Given the description of an element on the screen output the (x, y) to click on. 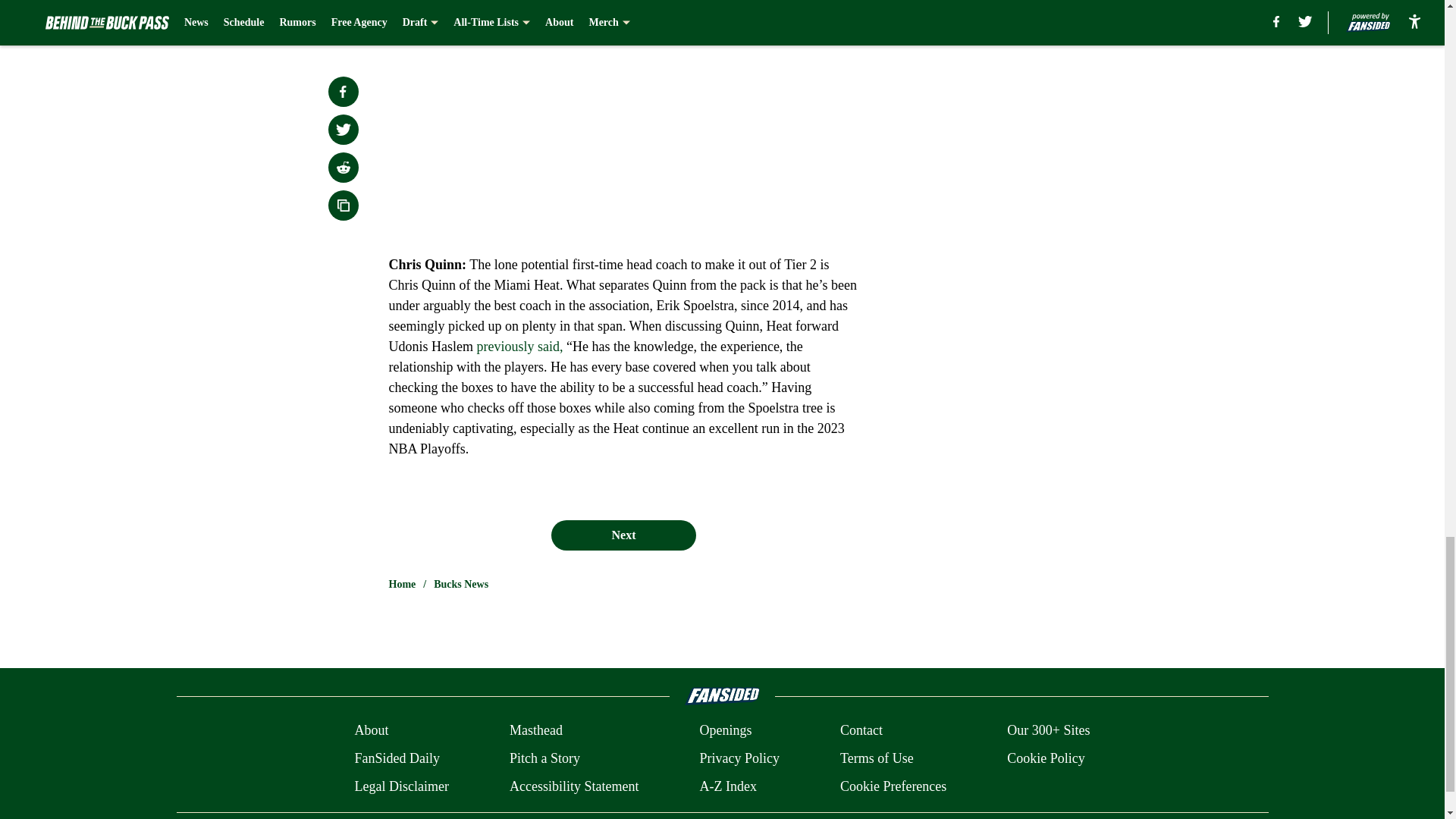
Openings (724, 730)
About (370, 730)
Next (622, 535)
Bucks News (460, 584)
Masthead (535, 730)
Home (401, 584)
previously said, (519, 346)
